Given the description of an element on the screen output the (x, y) to click on. 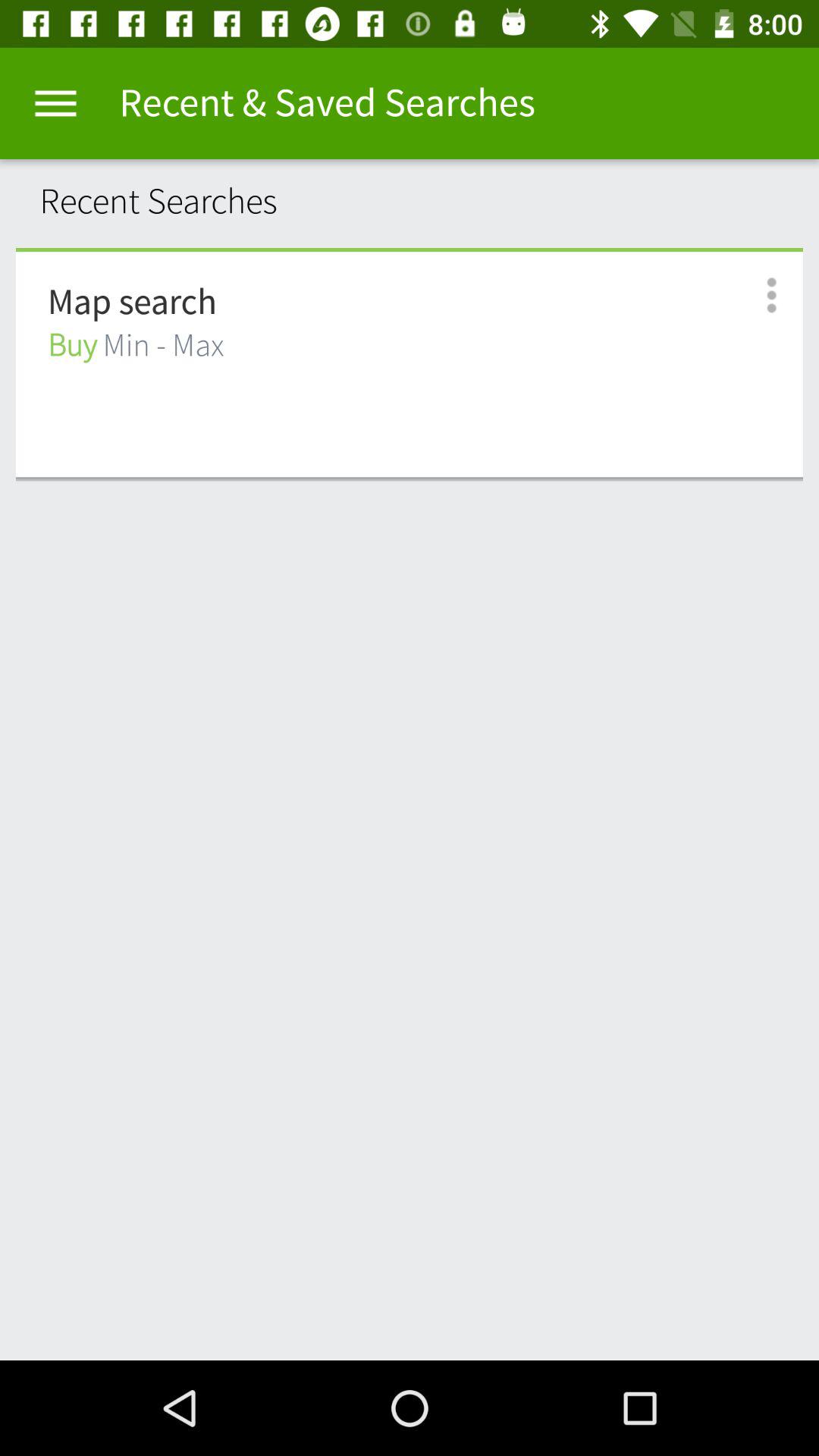
tap the icon at the top right corner (755, 295)
